Given the description of an element on the screen output the (x, y) to click on. 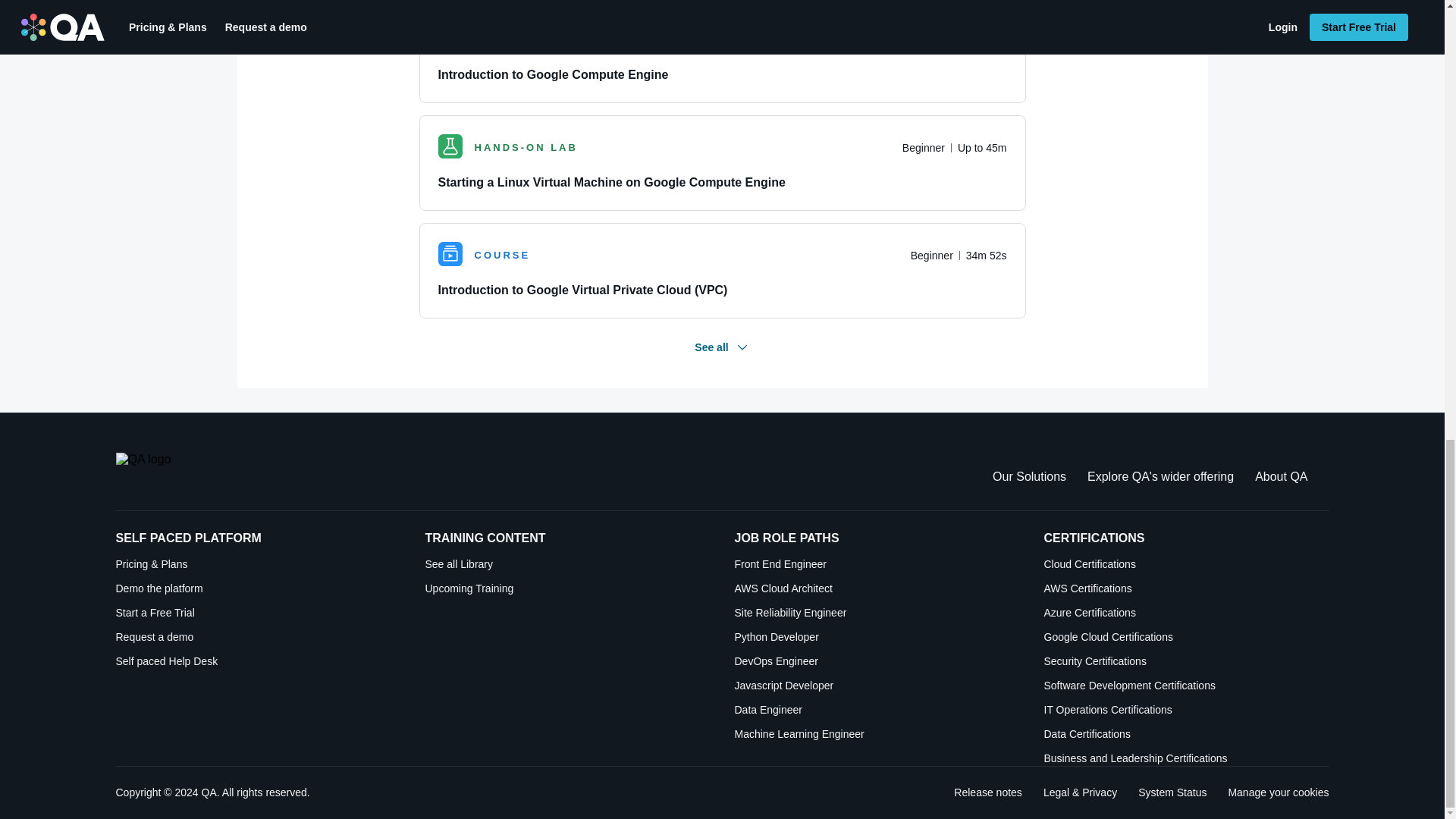
Start a Free Trial (257, 612)
Self paced Help Desk (257, 661)
See all (721, 346)
DevOps Engineer (876, 661)
AWS Cloud Architect (876, 588)
Site Reliability Engineer (876, 612)
Request a demo (257, 636)
Javascript Developer (876, 685)
Front End Engineer (876, 563)
